Given the description of an element on the screen output the (x, y) to click on. 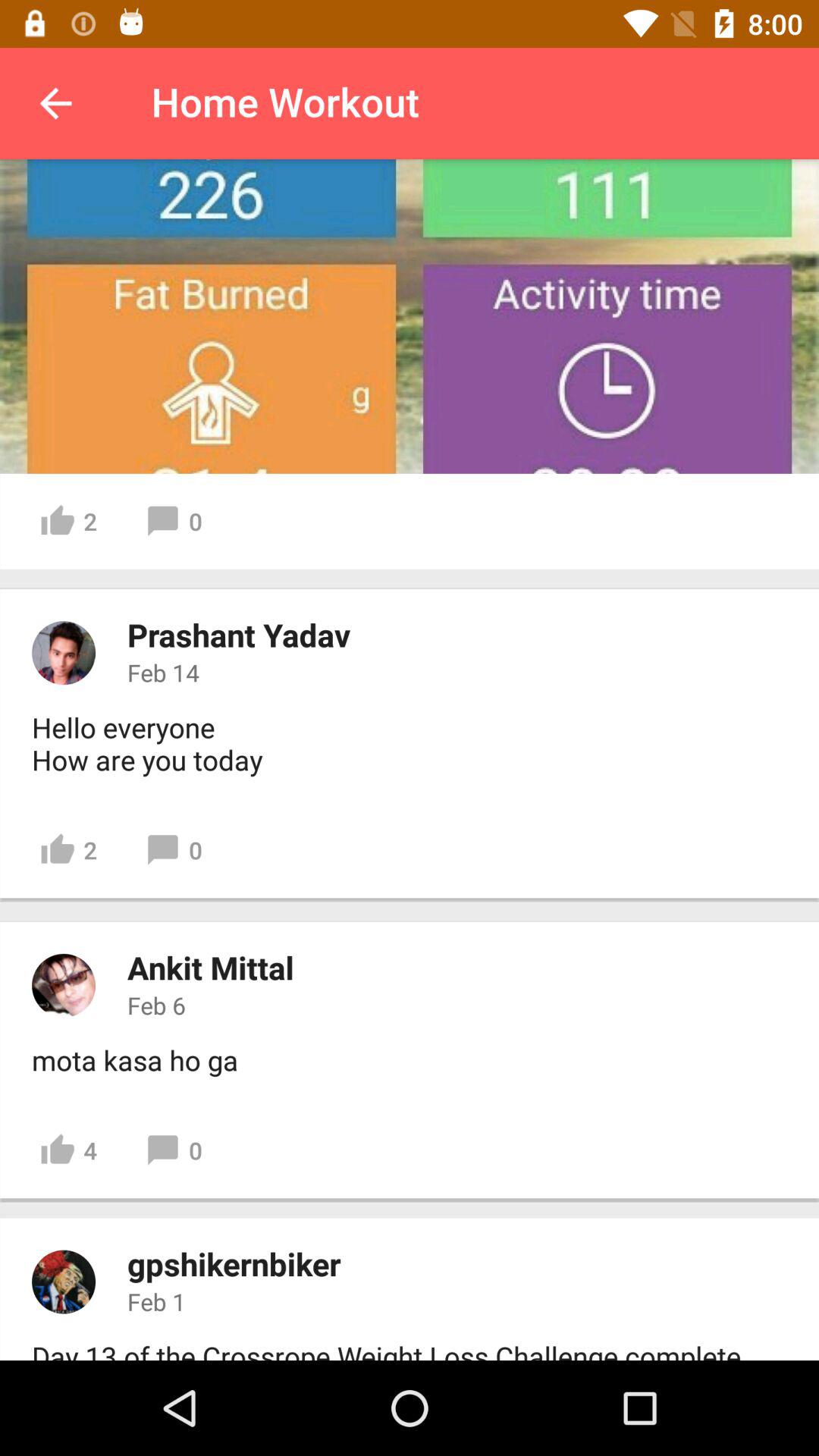
go to users profile (63, 1281)
